Given the description of an element on the screen output the (x, y) to click on. 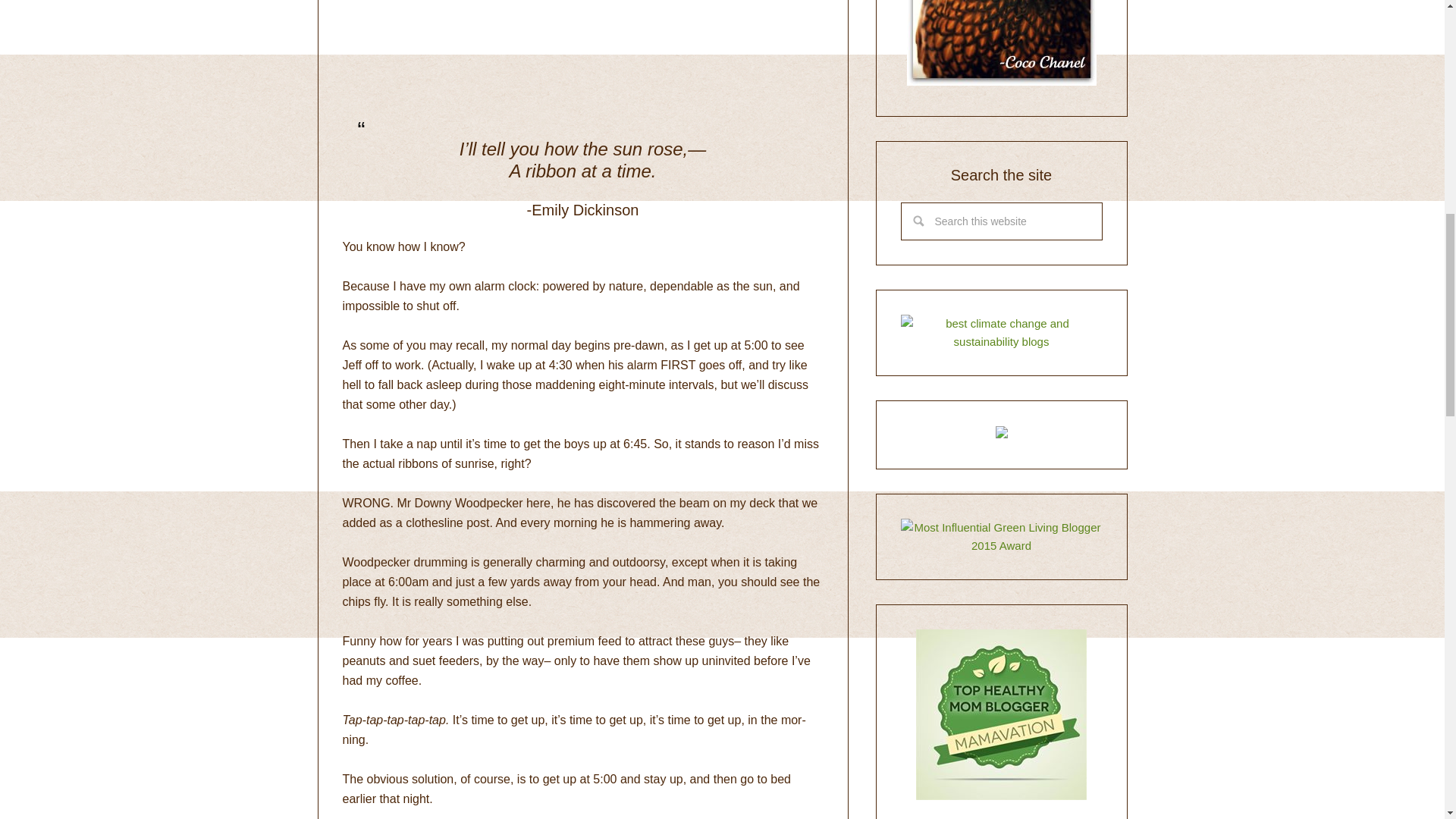
The Most Influential Green Living Bloggers for 2015 (1001, 545)
